Given the description of an element on the screen output the (x, y) to click on. 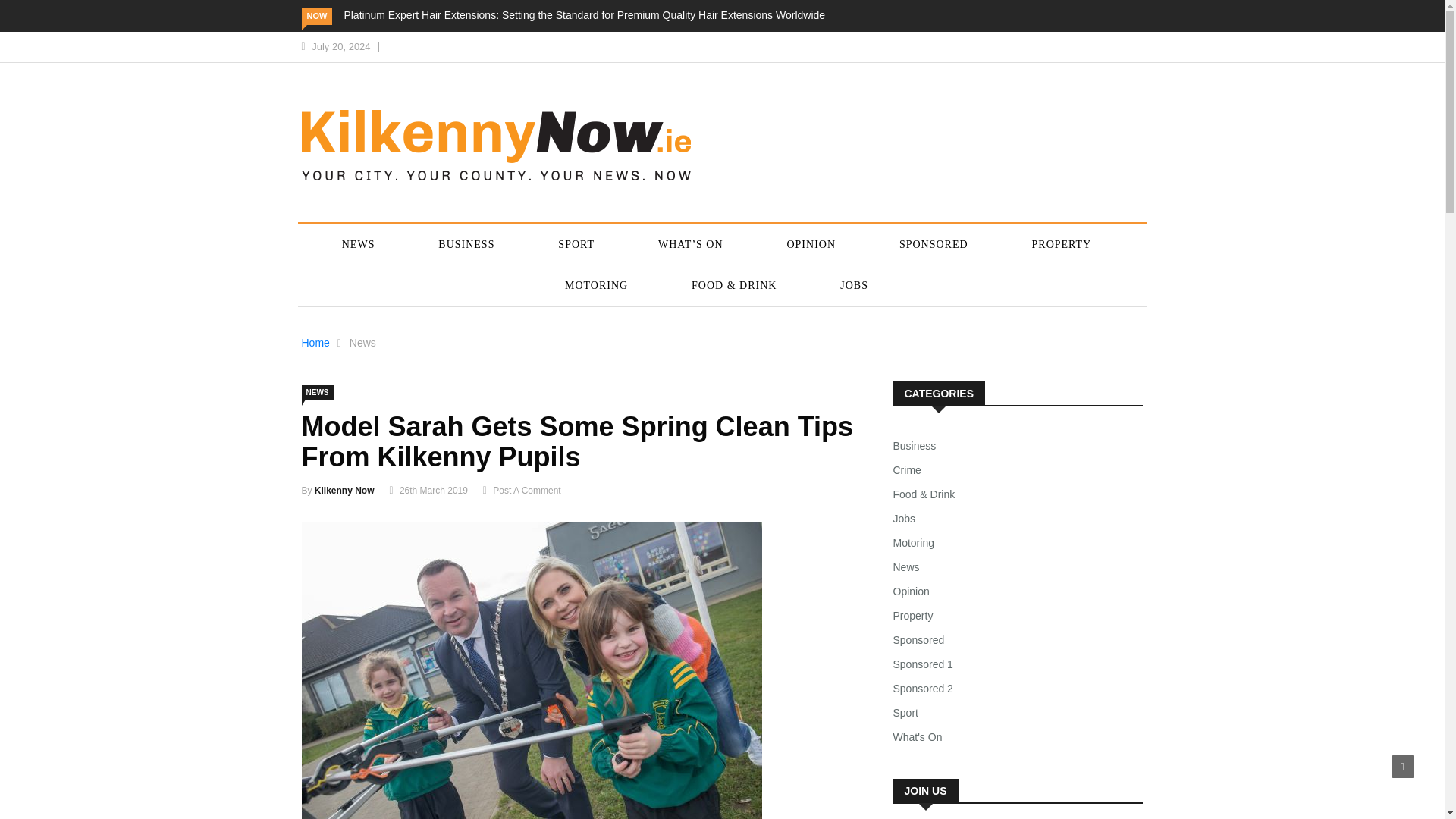
NEWS (317, 392)
News (362, 342)
BUSINESS (465, 244)
MOTORING (596, 285)
JOBS (853, 285)
SPORT (575, 244)
OPINION (810, 244)
logo (495, 144)
Posts by Kilkenny Now (344, 490)
Kilkenny Now (344, 490)
Home (315, 342)
NEWS (358, 244)
PROPERTY (1061, 244)
Back to Top (1402, 766)
